Given the description of an element on the screen output the (x, y) to click on. 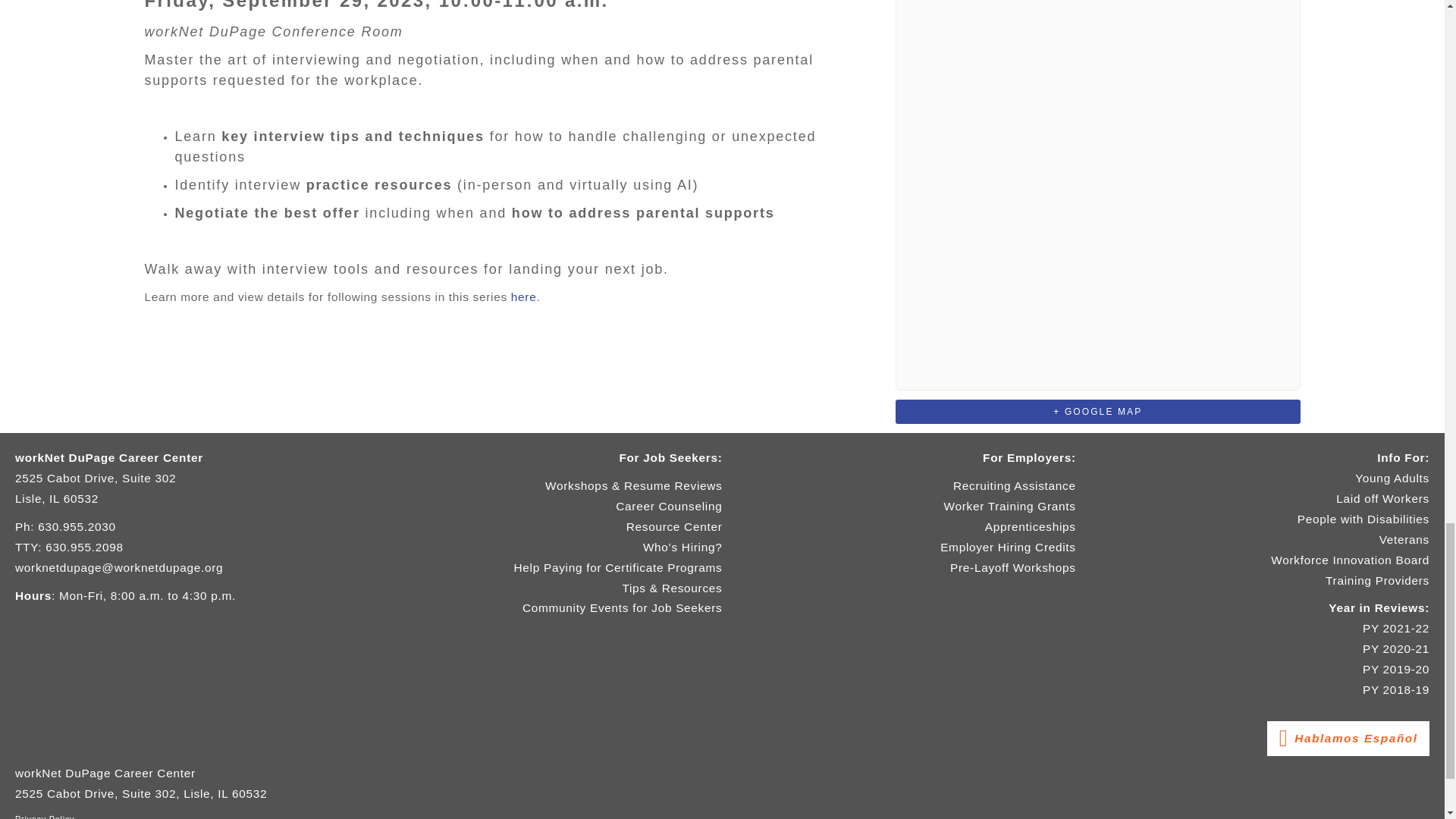
Click to view a Google Map (1097, 410)
